Given the description of an element on the screen output the (x, y) to click on. 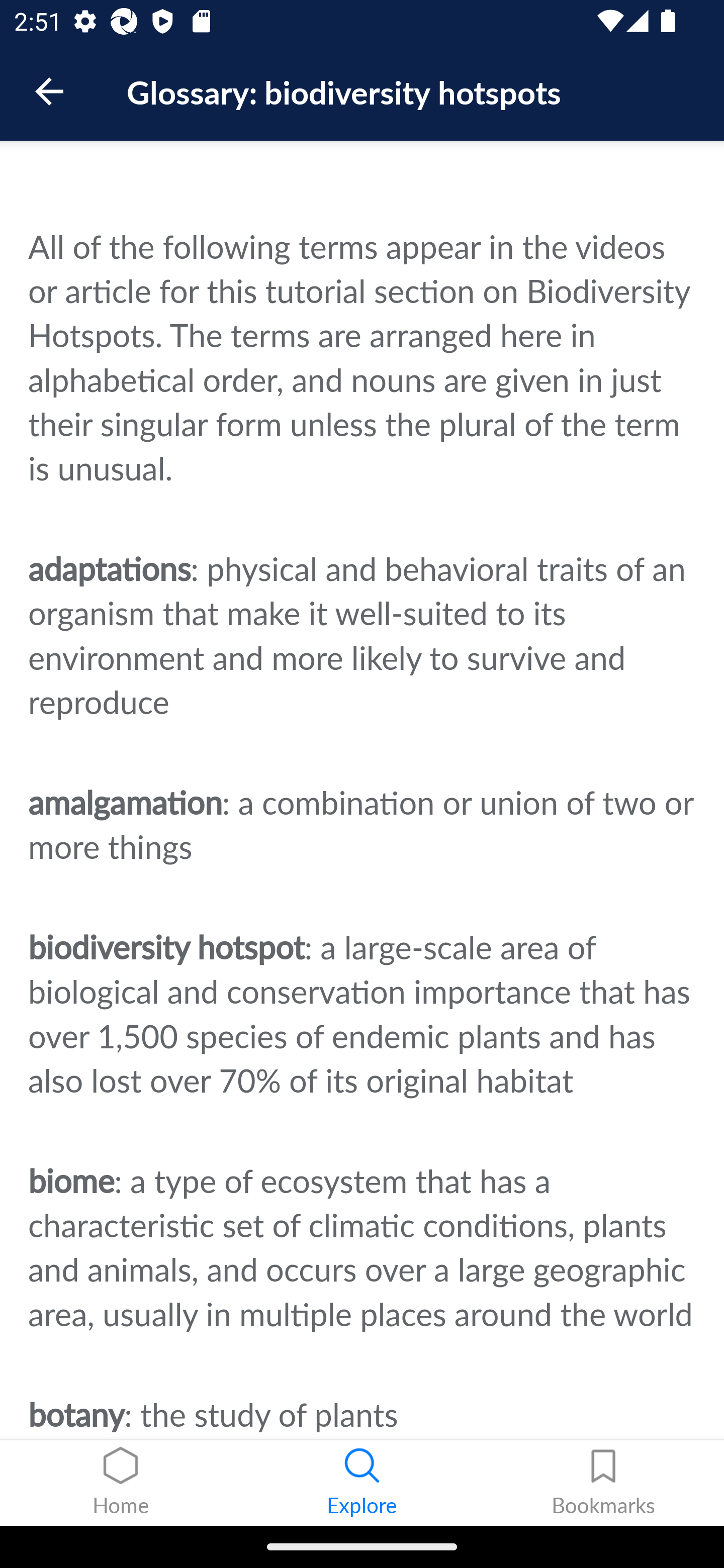
Navigate up (49, 91)
Home (120, 1482)
Explore (361, 1482)
Bookmarks (603, 1482)
